Given the description of an element on the screen output the (x, y) to click on. 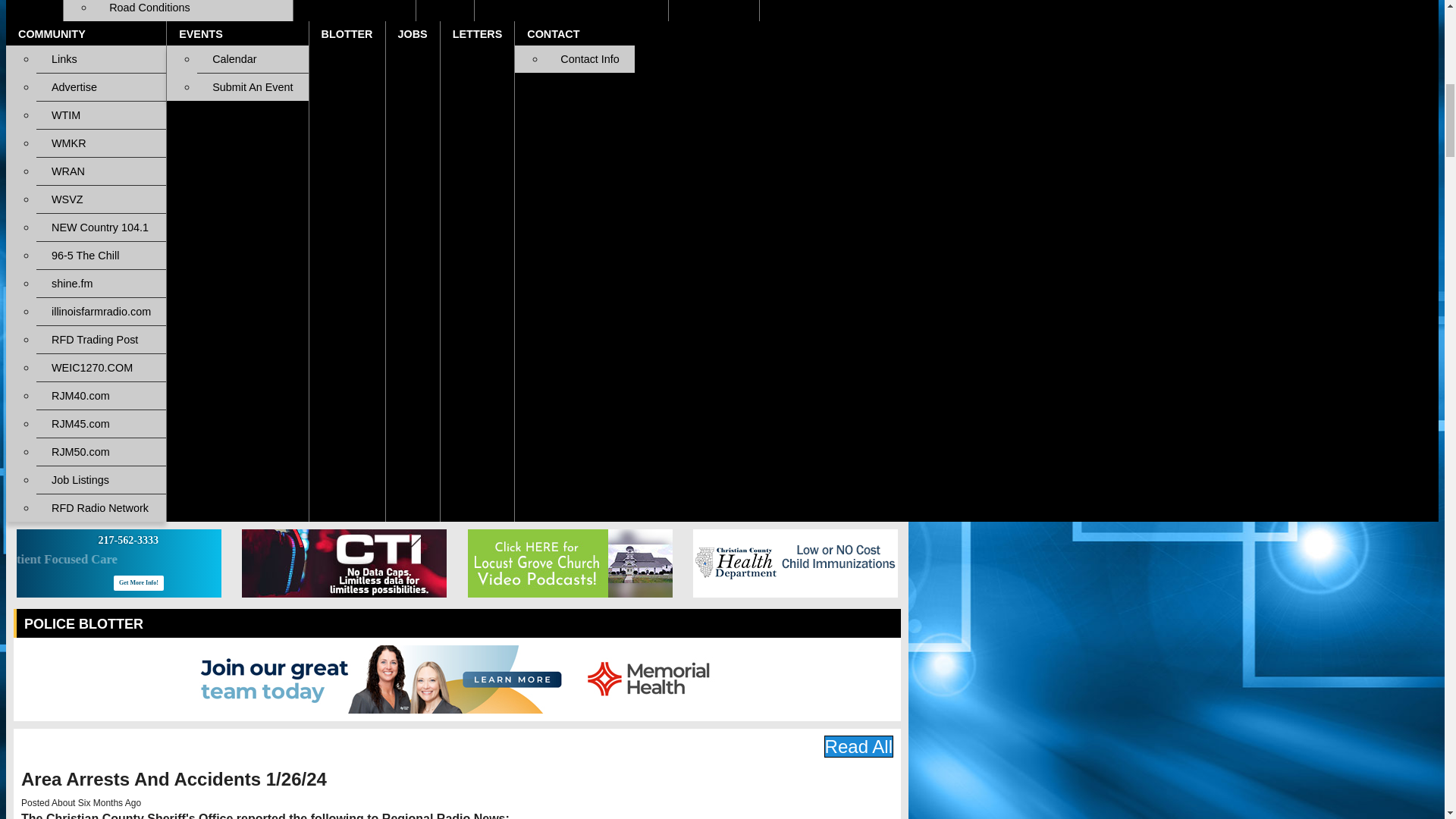
Road Conditions (193, 10)
Read All (858, 746)
